Given the description of an element on the screen output the (x, y) to click on. 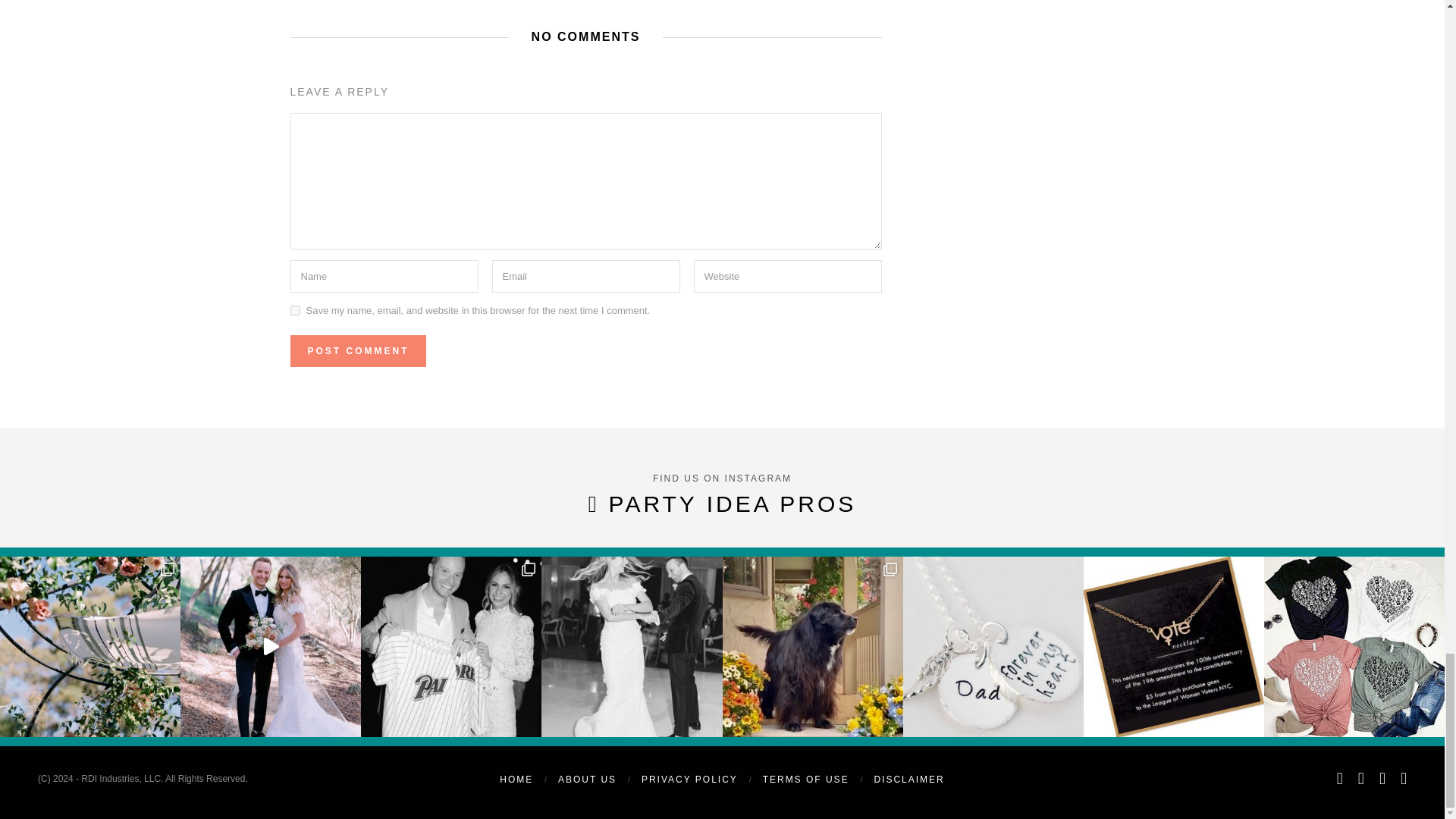
Post Comment (357, 350)
yes (294, 310)
